Given the description of an element on the screen output the (x, y) to click on. 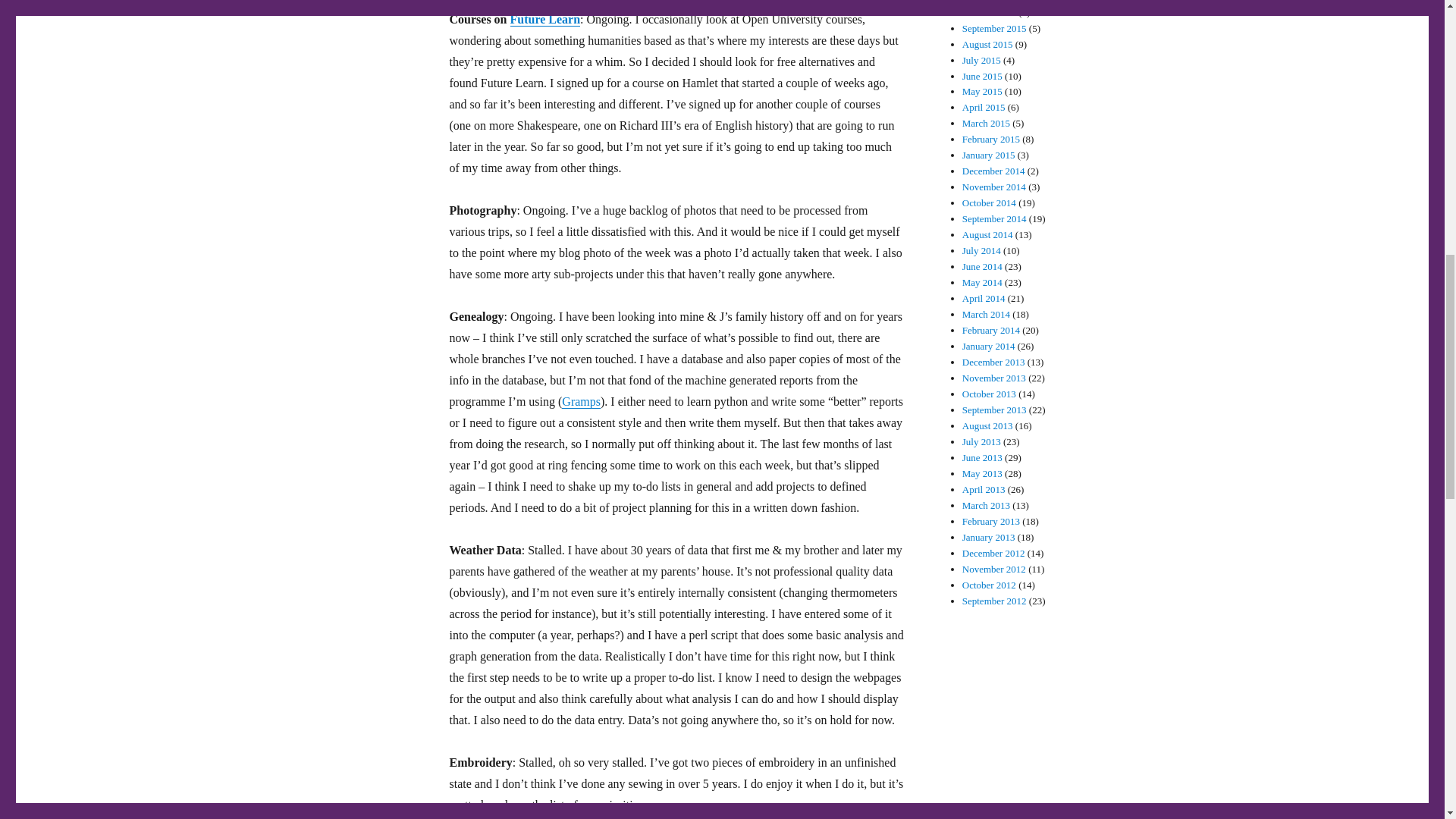
February 2015 (991, 138)
April 2015 (984, 107)
December 2014 (993, 170)
July 2015 (981, 60)
November 2015 (994, 1)
May 2015 (982, 91)
October 2015 (989, 12)
September 2015 (994, 28)
Gramps (580, 400)
January 2015 (988, 154)
